Given the description of an element on the screen output the (x, y) to click on. 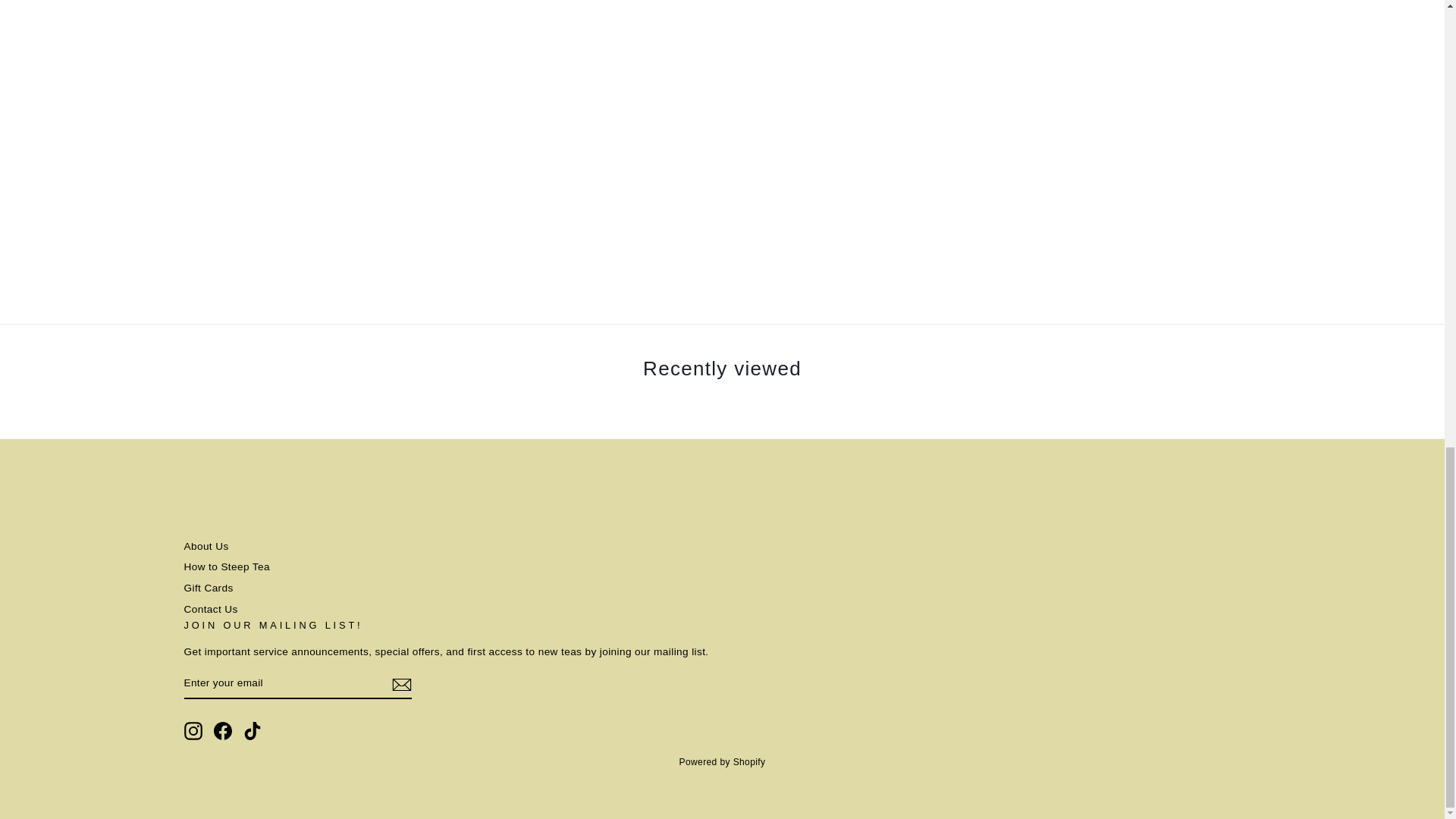
Tea Runners Canada on Facebook (222, 730)
Tea Runners Canada on Instagram (192, 730)
instagram (192, 730)
Tea Runners Canada on TikTok (251, 730)
icon-email (400, 684)
